Given the description of an element on the screen output the (x, y) to click on. 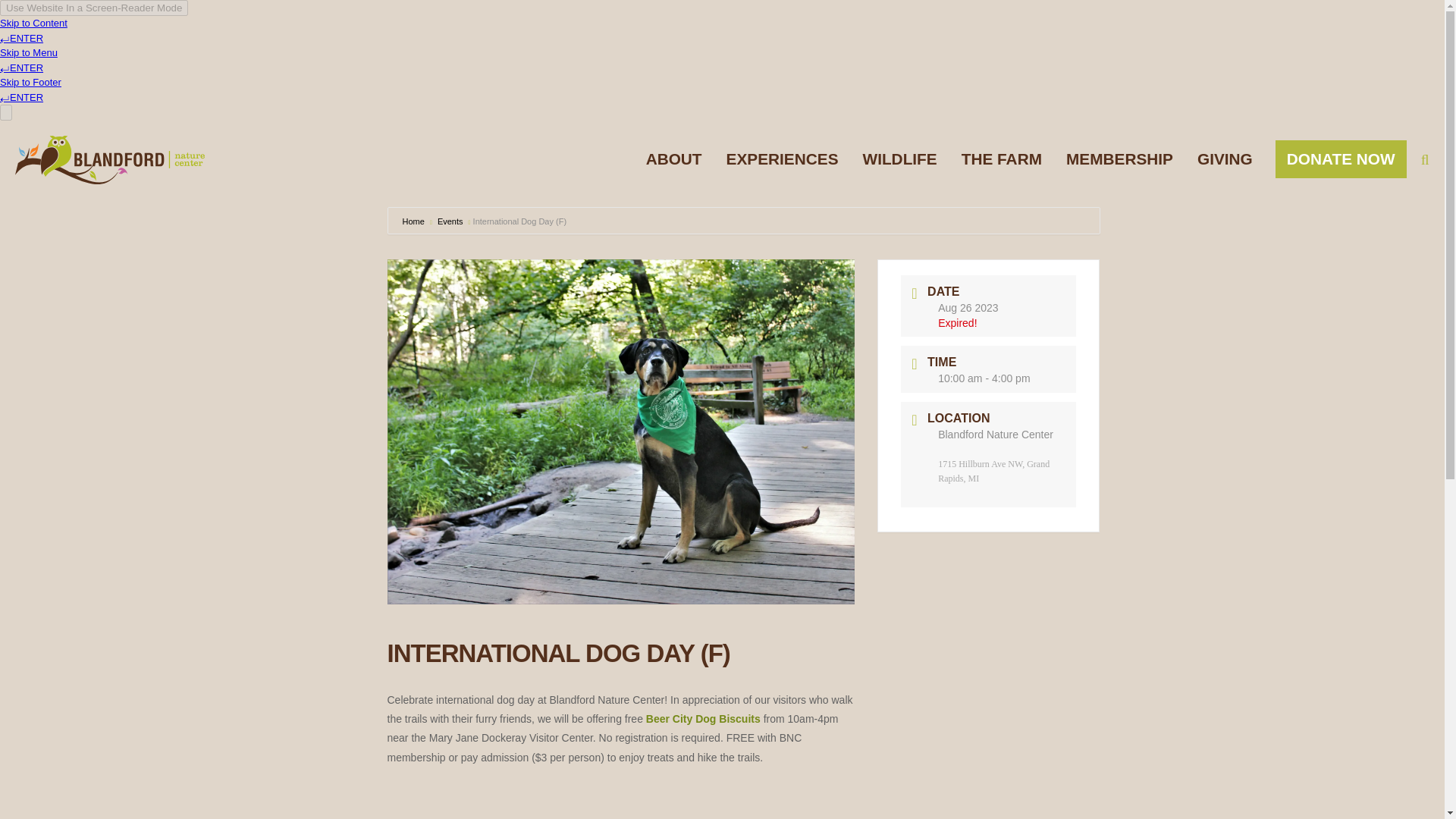
Search (1397, 158)
GIVING (1224, 158)
EXPERIENCES (782, 158)
WILDLIFE (898, 158)
THE FARM (1001, 158)
MEMBERSHIP (1119, 158)
ABOUT (673, 158)
Blandford Nature Center (109, 159)
